Given the description of an element on the screen output the (x, y) to click on. 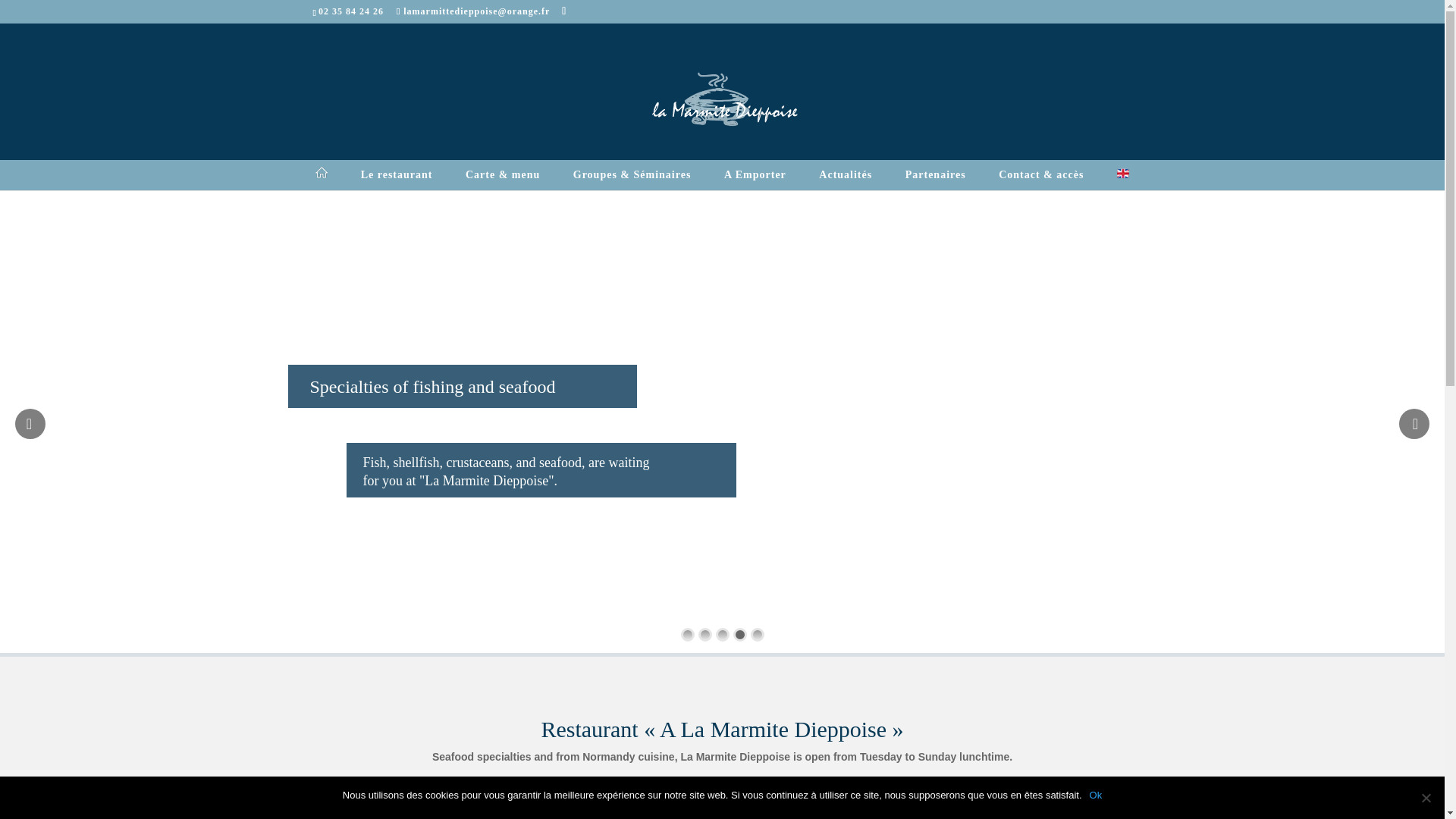
plateau fruits de mer dieppe (754, 185)
restaurant dieppe marmite dieppoise (321, 183)
A Emporter (754, 185)
menu restaurant dieppe (502, 185)
restaurant dieppe (396, 185)
Partenaires (935, 185)
Le restaurant (396, 185)
